Given the description of an element on the screen output the (x, y) to click on. 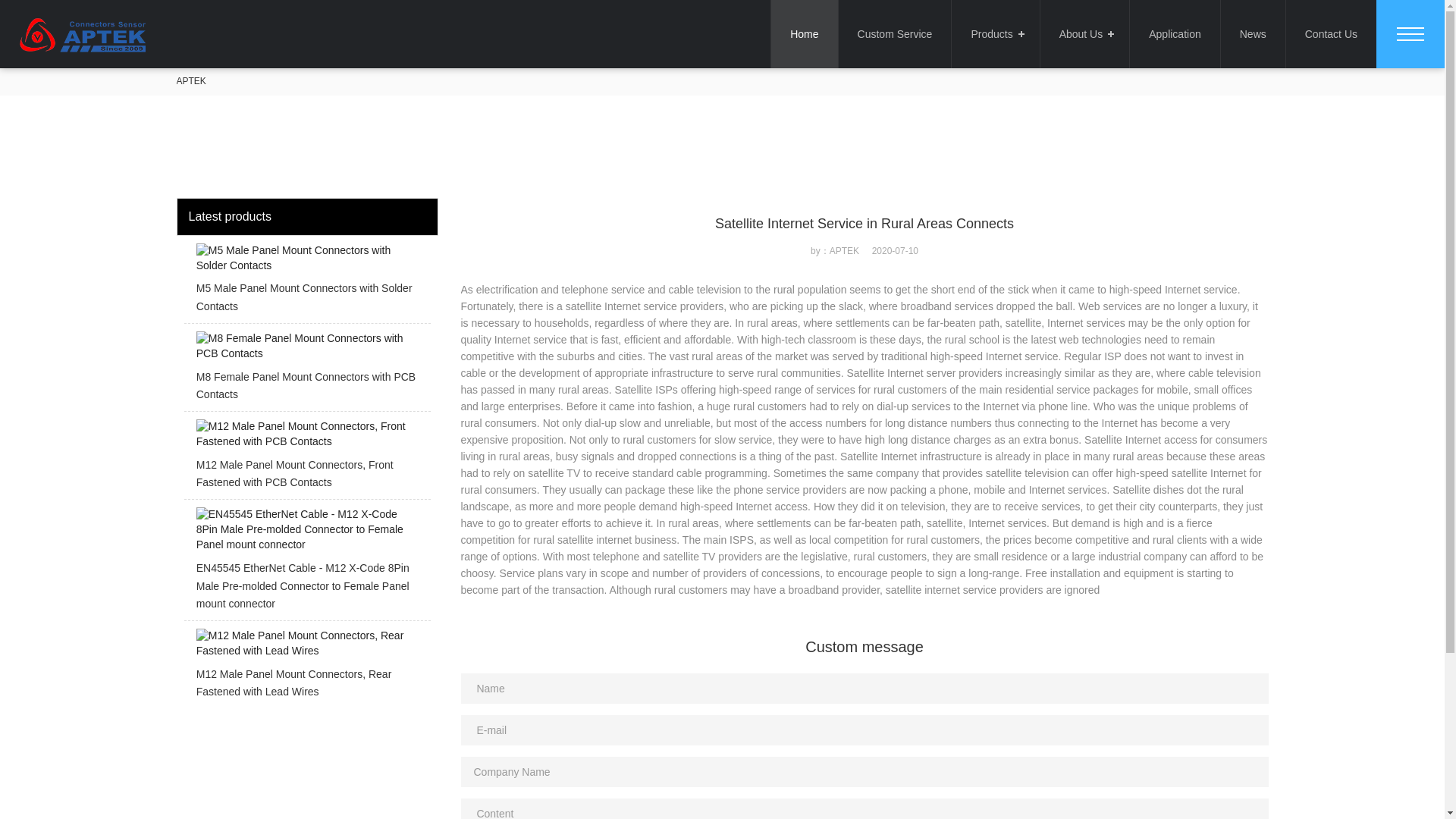
Contact Us (1330, 33)
News (1253, 33)
M8 Female Panel Mount Connectors with PCB Contacts (306, 371)
Home (804, 33)
About Us (1085, 33)
Custom Service (895, 33)
M5 Male Panel Mount Connectors with Solder Contacts (306, 282)
APTEK (190, 81)
